Given the description of an element on the screen output the (x, y) to click on. 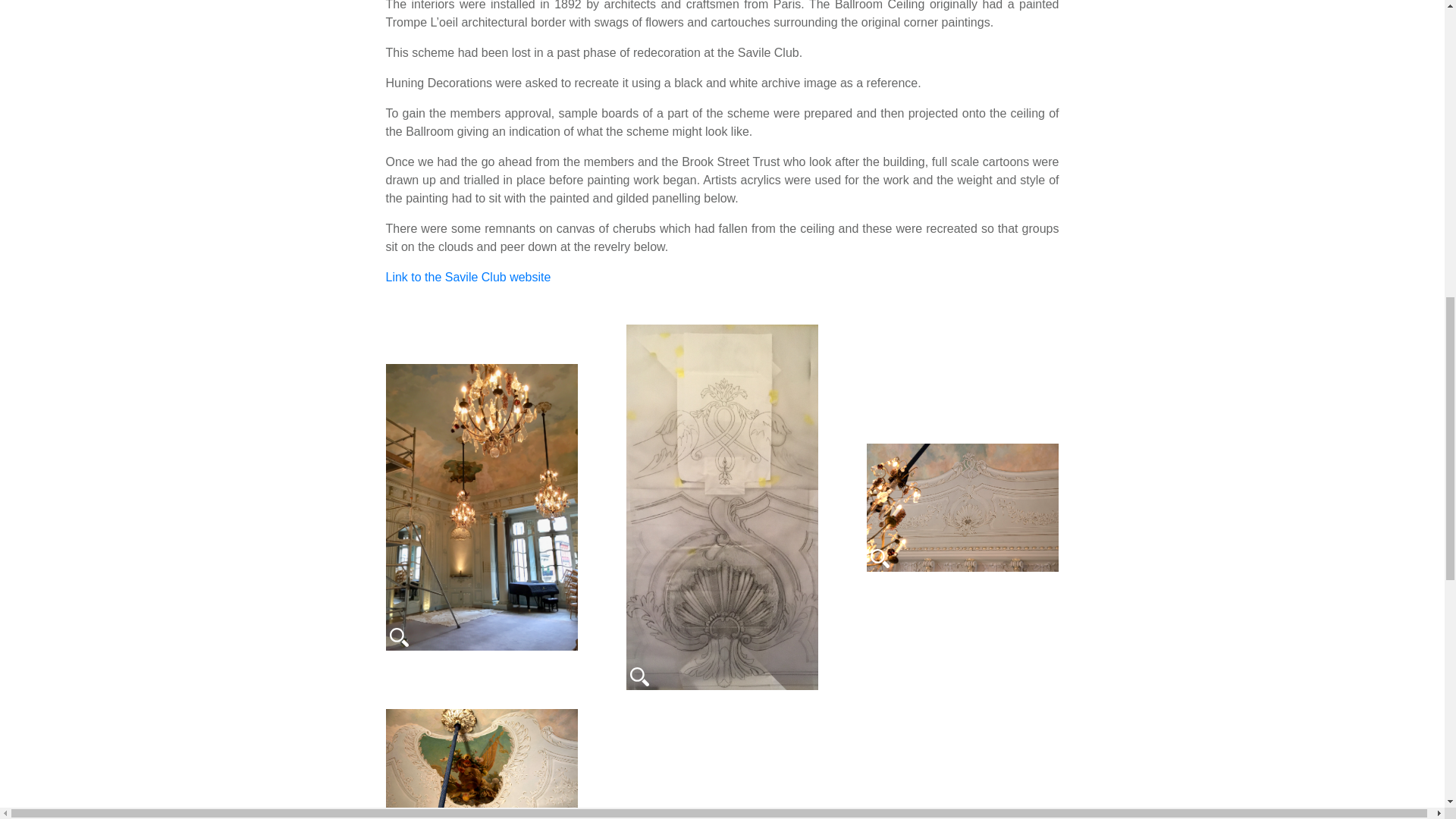
Link to the Savile Club website  (469, 277)
